Given the description of an element on the screen output the (x, y) to click on. 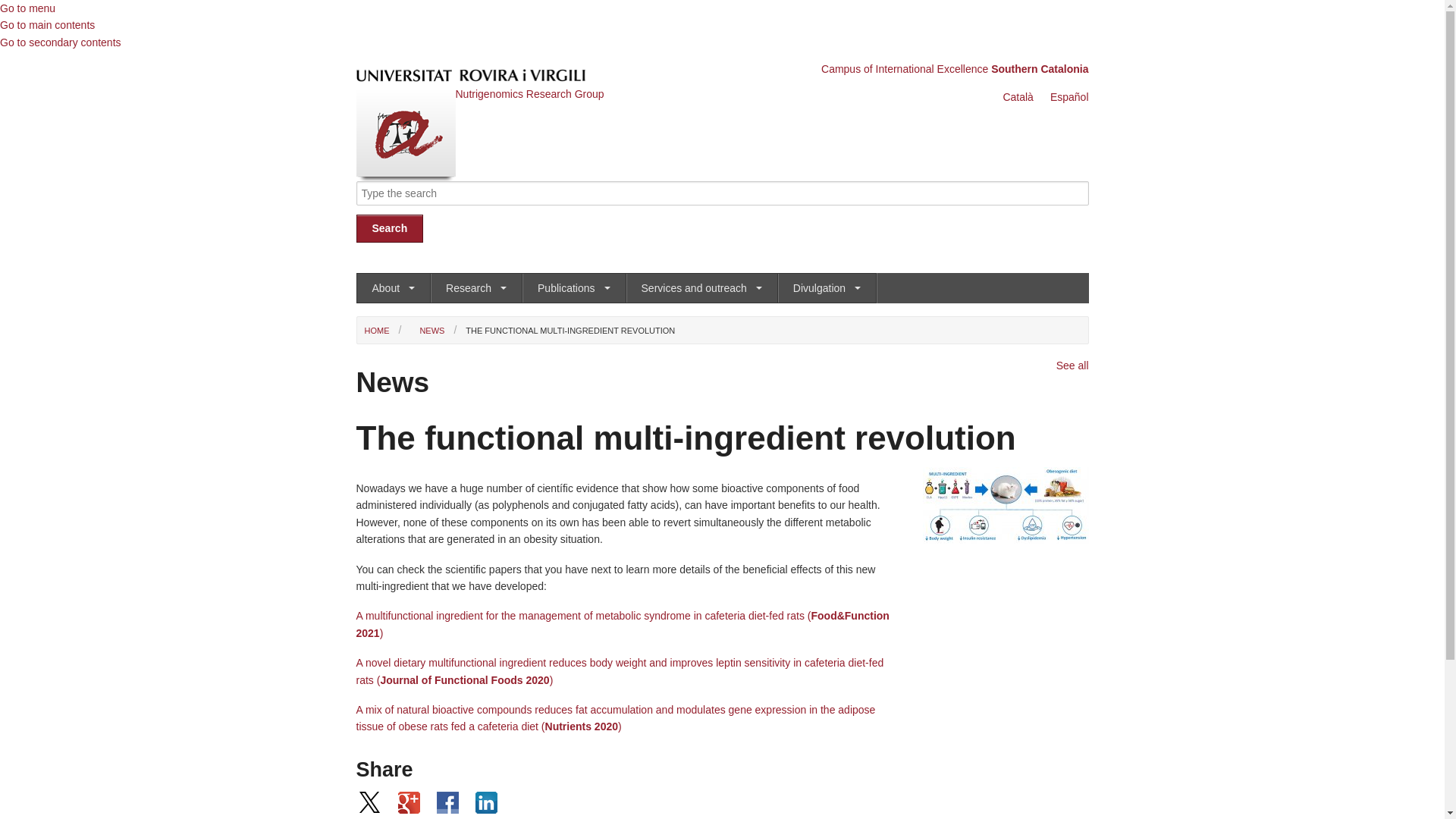
Publications Element type: text (573, 287)
Go to menu Element type: text (27, 8)
Go to main contents Element type: text (47, 24)
Campus of International Excellence Southern Catalonia Element type: text (954, 68)
See all Element type: text (1072, 365)
Divulgation Element type: text (826, 287)
Go to secondary contents Element type: text (60, 42)
Search Element type: text (389, 228)
Research Element type: text (475, 287)
HOME Element type: text (376, 330)
Services and outreach Element type: text (701, 287)
NEWS Element type: text (427, 330)
Nutrigenomics Research Group Element type: text (529, 93)
About Element type: text (392, 287)
